Given the description of an element on the screen output the (x, y) to click on. 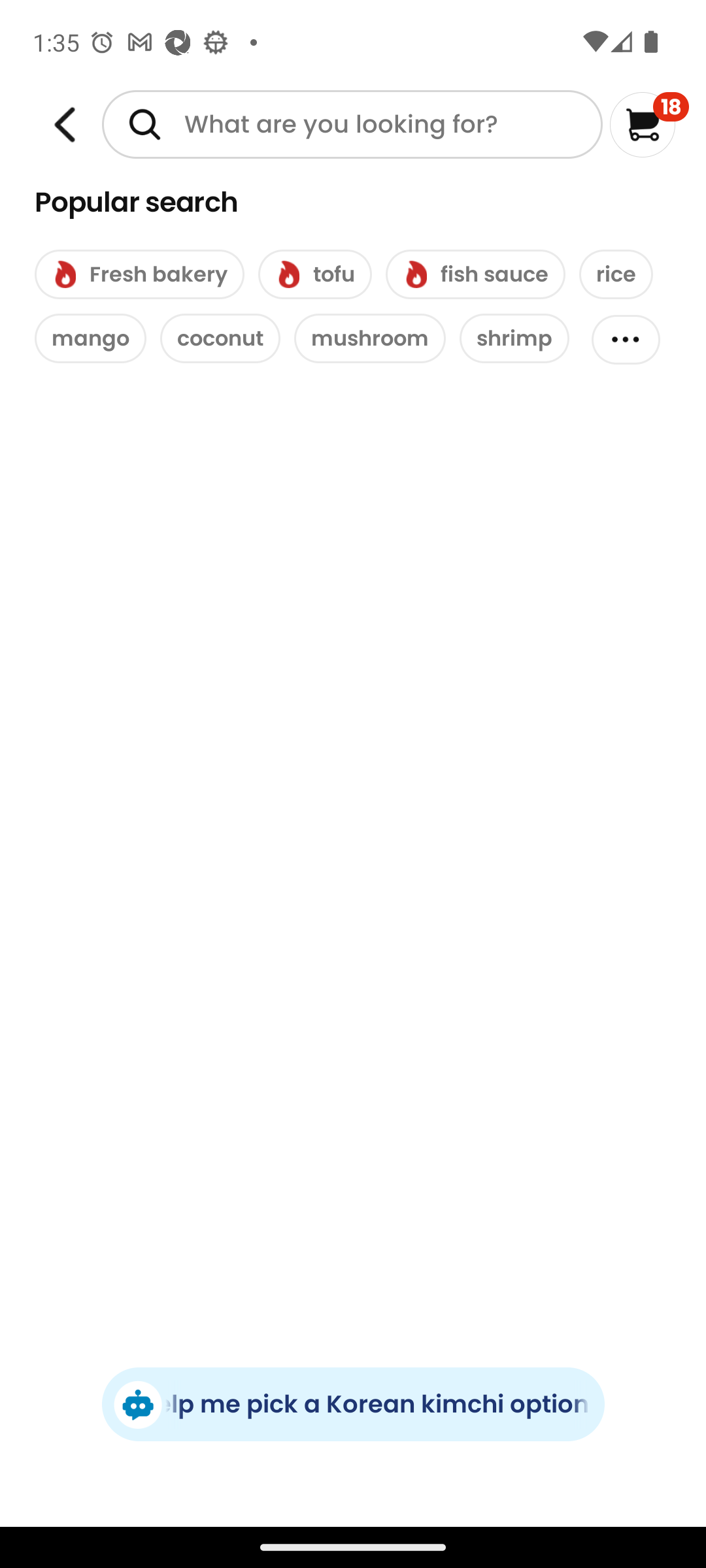
What are you looking for? (351, 124)
18 (649, 124)
Fresh bakery (139, 274)
tofu (315, 274)
fish sauce (475, 274)
rice (615, 274)
mango (90, 338)
coconut (220, 338)
mushroom (369, 338)
shrimp (514, 338)
